Given the description of an element on the screen output the (x, y) to click on. 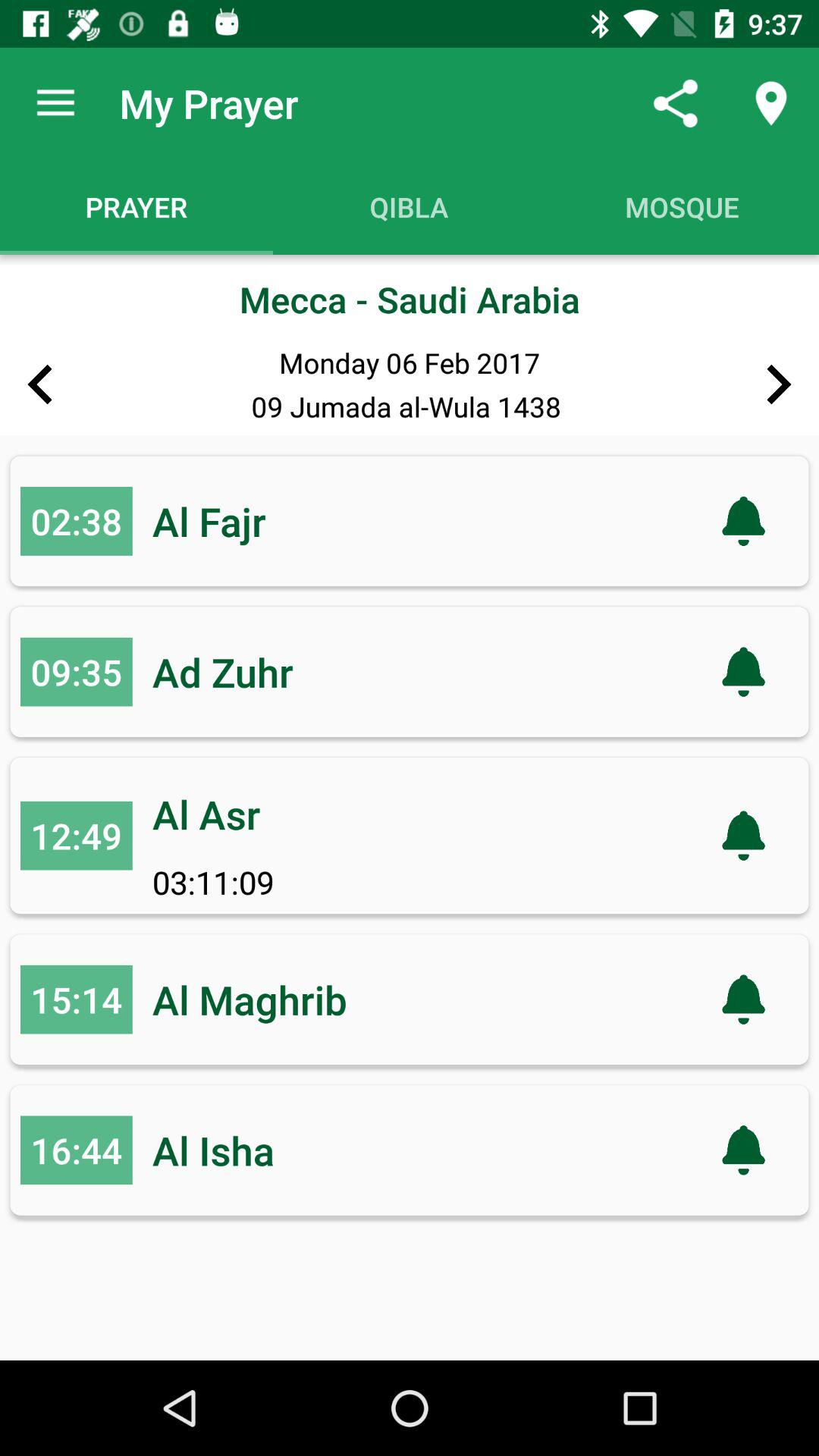
launch the icon next to the al asr item (76, 835)
